Given the description of an element on the screen output the (x, y) to click on. 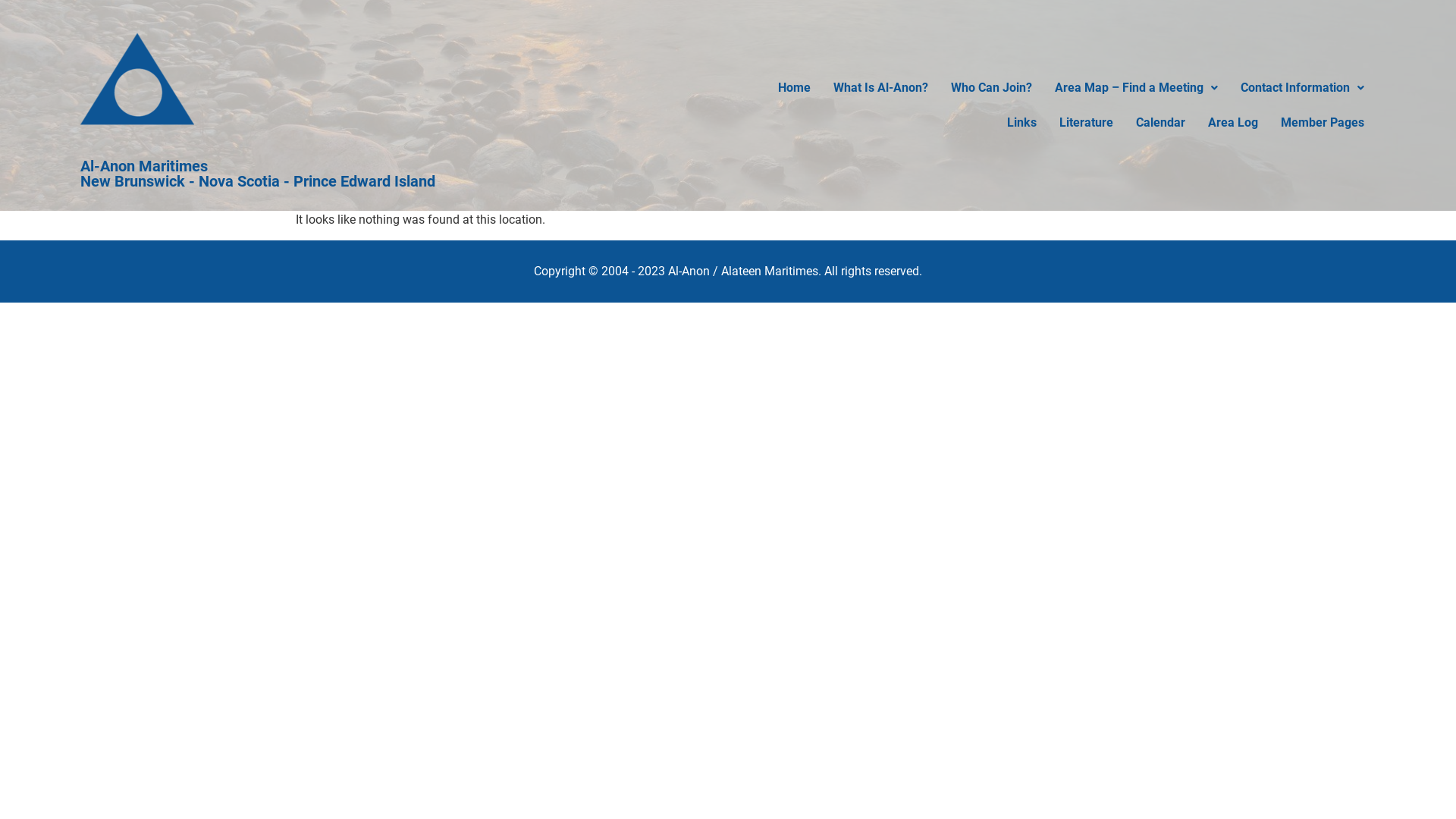
Member Pages Element type: text (1322, 122)
Area Log Element type: text (1232, 122)
Home Element type: text (794, 87)
Literature Element type: text (1086, 122)
Contact Information Element type: text (1302, 87)
Calendar Element type: text (1160, 122)
Links Element type: text (1021, 122)
Who Can Join? Element type: text (991, 87)
What Is Al-Anon? Element type: text (880, 87)
